Given the description of an element on the screen output the (x, y) to click on. 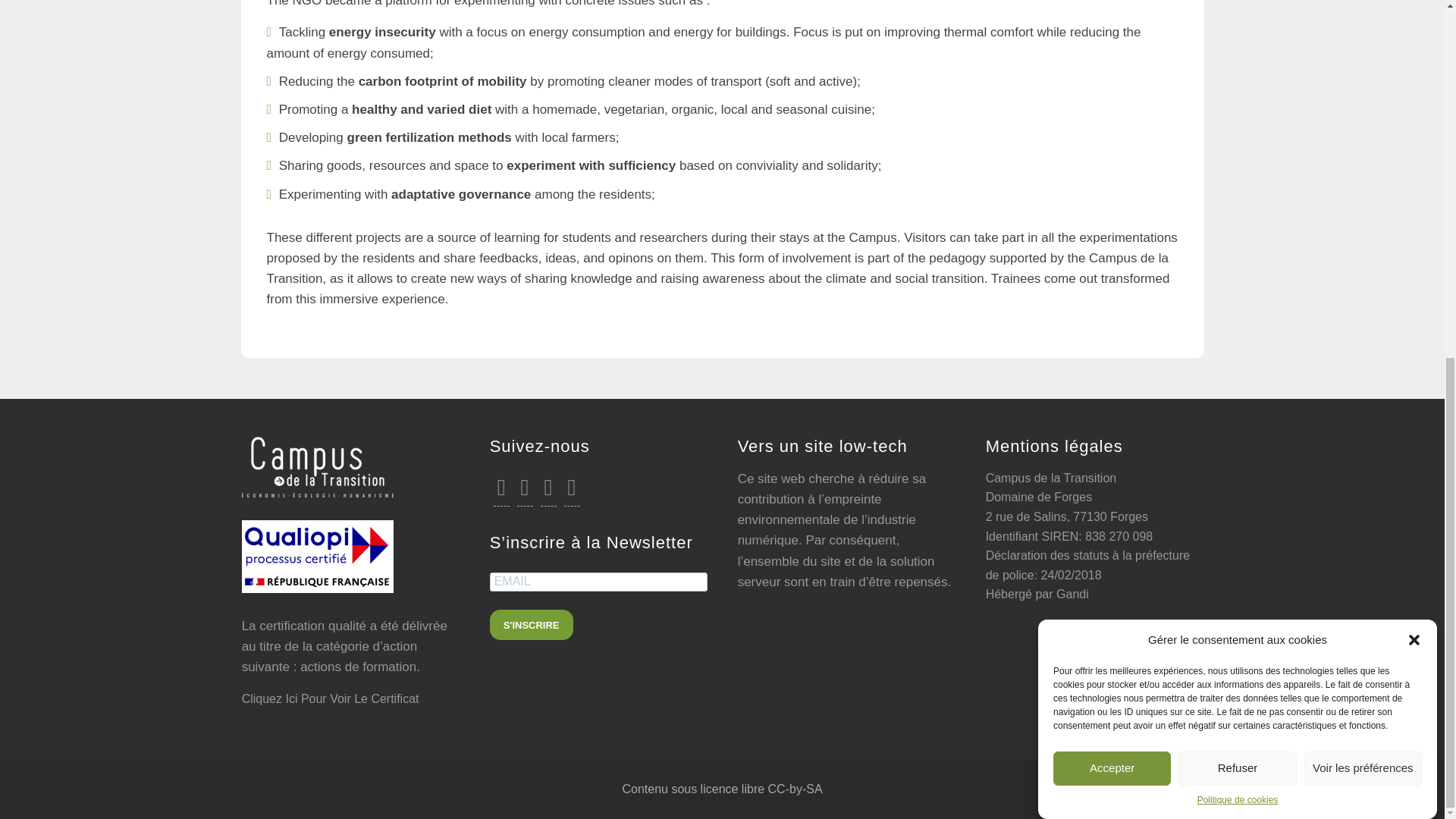
Refuser (1236, 335)
Politique de cookies (1237, 264)
Accepter (1111, 378)
Cliquez Ici Pour Voir Le Certificat (330, 698)
